Given the description of an element on the screen output the (x, y) to click on. 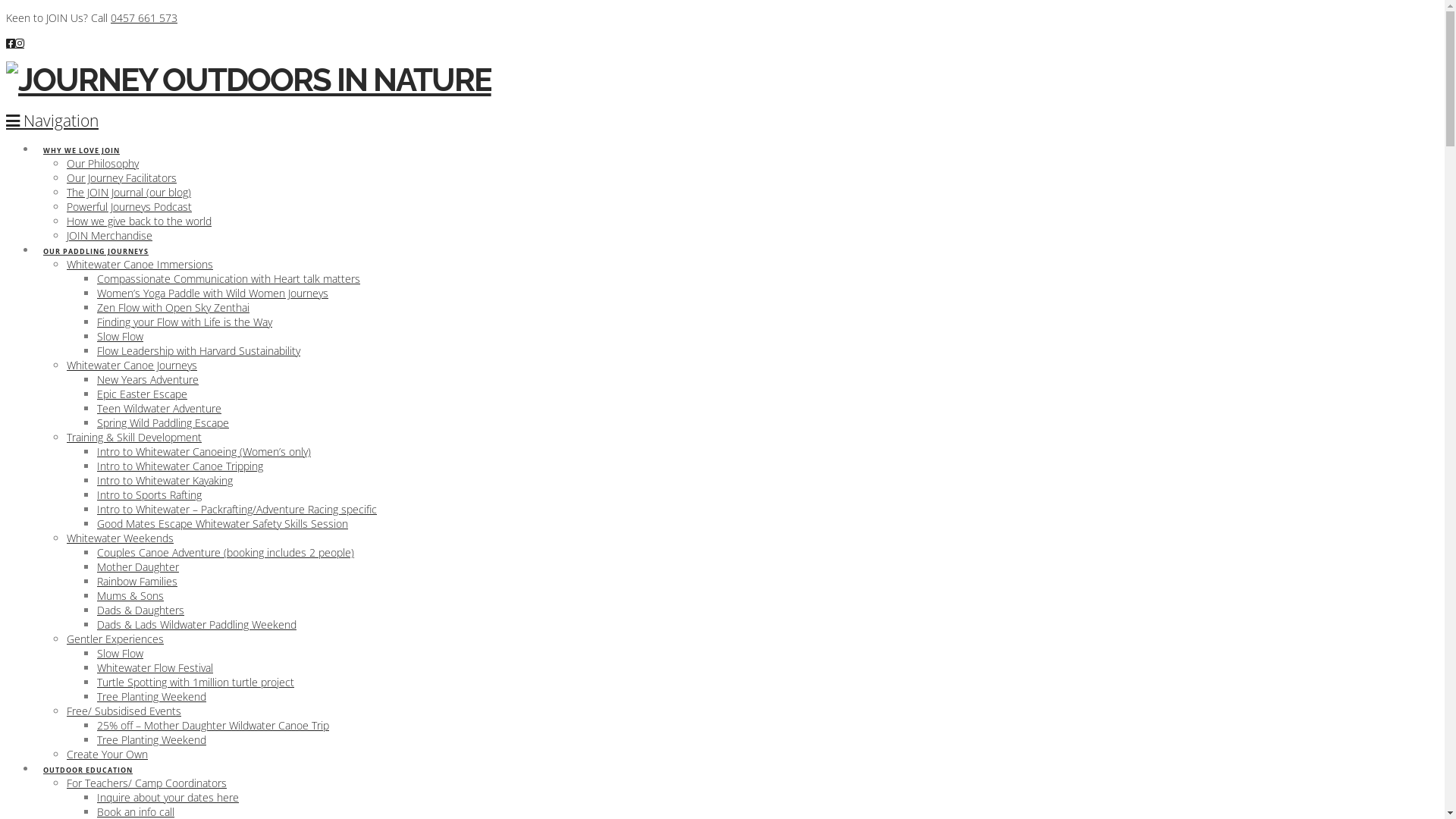
0457 661 573 Element type: text (143, 17)
Tree Planting Weekend Element type: text (151, 696)
Free/ Subsidised Events Element type: text (123, 710)
Whitewater Flow Festival Element type: text (155, 667)
Dads & Lads Wildwater Paddling Weekend Element type: text (196, 624)
Intro to Whitewater Kayaking Element type: text (164, 480)
Good Mates Escape Whitewater Safety Skills Session Element type: text (222, 523)
How we give back to the world Element type: text (138, 220)
OUR PADDLING JOURNEYS Element type: text (95, 236)
Finding your Flow with Life is the Way Element type: text (184, 321)
For Teachers/ Camp Coordinators Element type: text (146, 782)
The JOIN Journal (our blog) Element type: text (128, 192)
OUTDOOR EDUCATION Element type: text (87, 755)
Compassionate Communication with Heart talk matters Element type: text (228, 278)
Gentler Experiences Element type: text (114, 638)
Powerful Journeys Podcast Element type: text (128, 206)
Training & Skill Development Element type: text (133, 436)
Instagram Element type: hover (19, 42)
Our Philosophy Element type: text (102, 163)
WHY WE LOVE JOIN Element type: text (80, 135)
Turtle Spotting with 1million turtle project Element type: text (195, 681)
Mother Daughter Element type: text (137, 566)
Flow Leadership with Harvard Sustainability Element type: text (198, 350)
Tree Planting Weekend Element type: text (151, 739)
JOIN Merchandise Element type: text (109, 235)
Spring Wild Paddling Escape Element type: text (163, 422)
Epic Easter Escape Element type: text (142, 393)
New Years Adventure Element type: text (147, 379)
Slow Flow Element type: text (120, 653)
Zen Flow with Open Sky Zenthai Element type: text (173, 307)
Create Your Own Element type: text (106, 753)
Dads & Daughters Element type: text (140, 609)
Whitewater Weekends Element type: text (119, 537)
Teen Wildwater Adventure Element type: text (159, 408)
Intro to Whitewater Canoe Tripping Element type: text (180, 465)
Rainbow Families Element type: text (137, 581)
Intro to Sports Rafting Element type: text (149, 494)
Navigation Element type: text (52, 120)
Slow Flow Element type: text (120, 336)
Mums & Sons Element type: text (130, 595)
Facebook Element type: hover (10, 42)
Couples Canoe Adventure (booking includes 2 people) Element type: text (225, 552)
Whitewater Canoe Immersions Element type: text (139, 264)
Our Journey Facilitators Element type: text (121, 177)
Whitewater Canoe Journeys Element type: text (131, 364)
Inquire about your dates here Element type: text (167, 797)
